Given the description of an element on the screen output the (x, y) to click on. 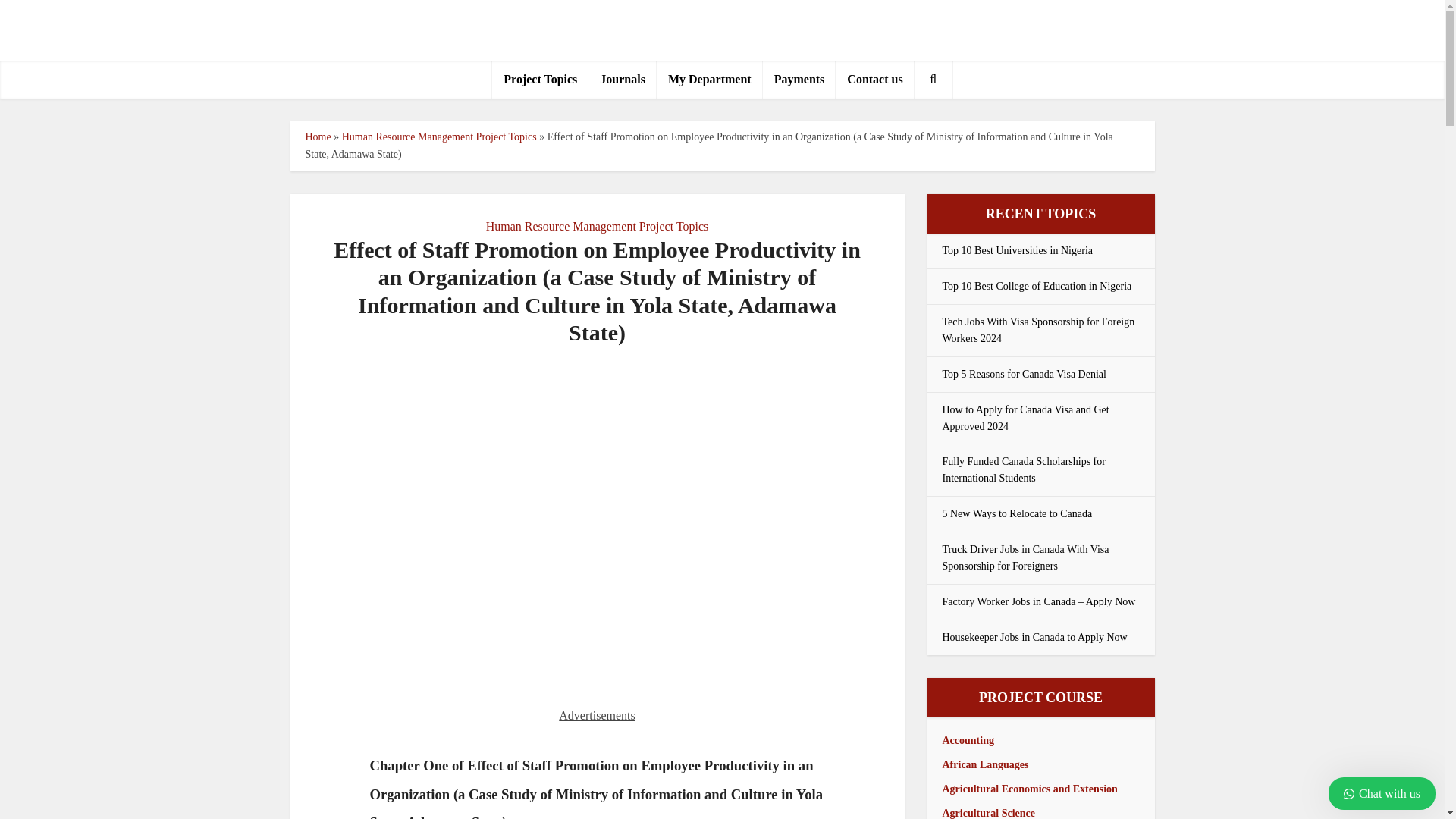
Contact us (874, 79)
Human Resource Management Project Topics (439, 136)
Agricultural Science (987, 813)
Agricultural Economics and Extension (1029, 788)
African Languages (984, 764)
Human Resource Management Project Topics (597, 226)
Housekeeper Jobs in Canada to Apply Now (1034, 636)
My Department (709, 79)
Top 10 Best College of Education in Nigeria (1036, 285)
Tech Jobs With Visa Sponsorship for Foreign Workers 2024 (1038, 329)
